Given the description of an element on the screen output the (x, y) to click on. 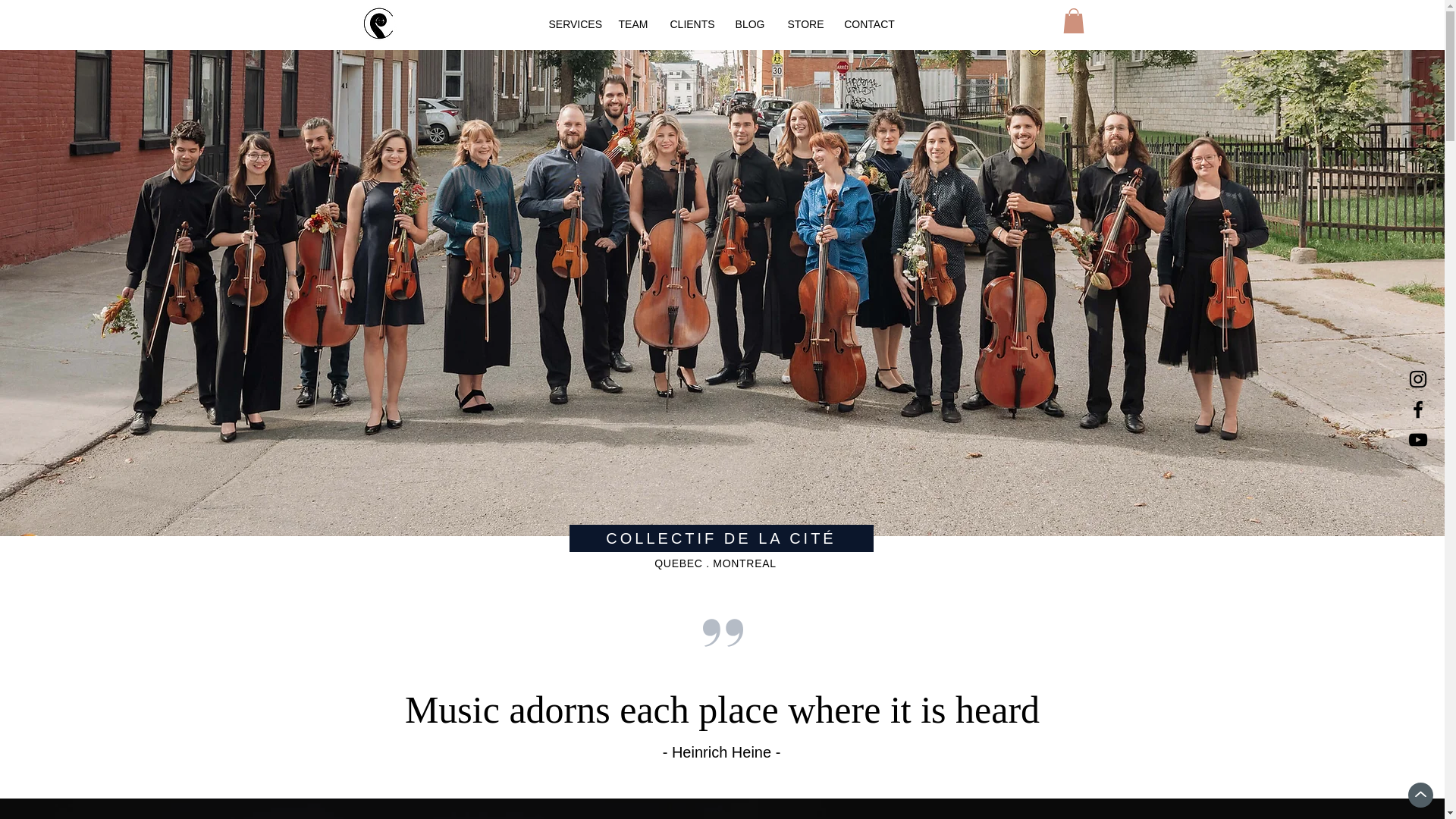
CLIENTS (690, 23)
STORE (804, 23)
CONTACT (869, 23)
BLOG (749, 23)
